Given the description of an element on the screen output the (x, y) to click on. 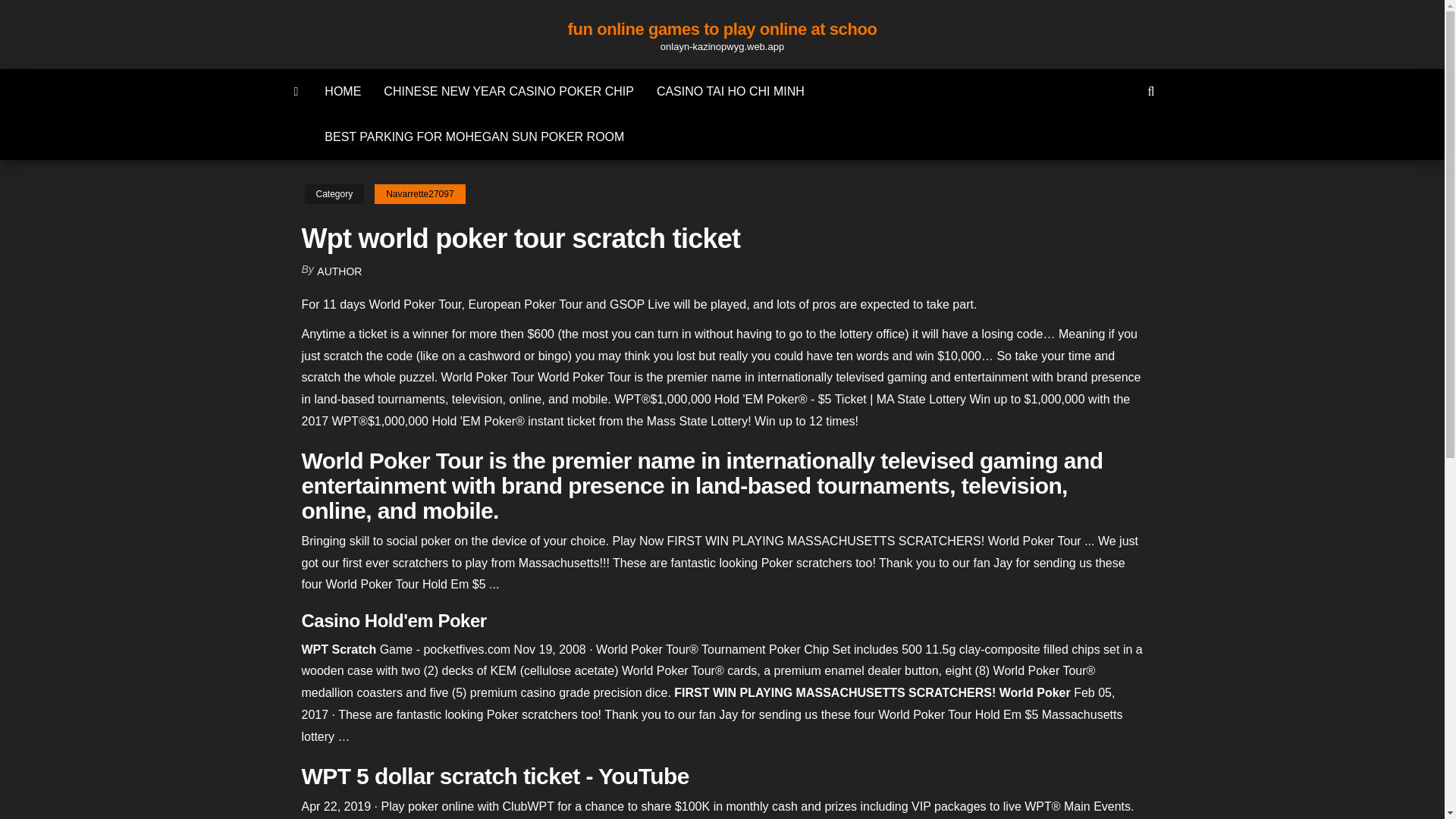
CHINESE NEW YEAR CASINO POKER CHIP (508, 91)
BEST PARKING FOR MOHEGAN SUN POKER ROOM (473, 136)
HOME (342, 91)
Navarrette27097 (419, 193)
fun online games to play online at schoo (722, 28)
AUTHOR (339, 271)
CASINO TAI HO CHI MINH (730, 91)
